Given the description of an element on the screen output the (x, y) to click on. 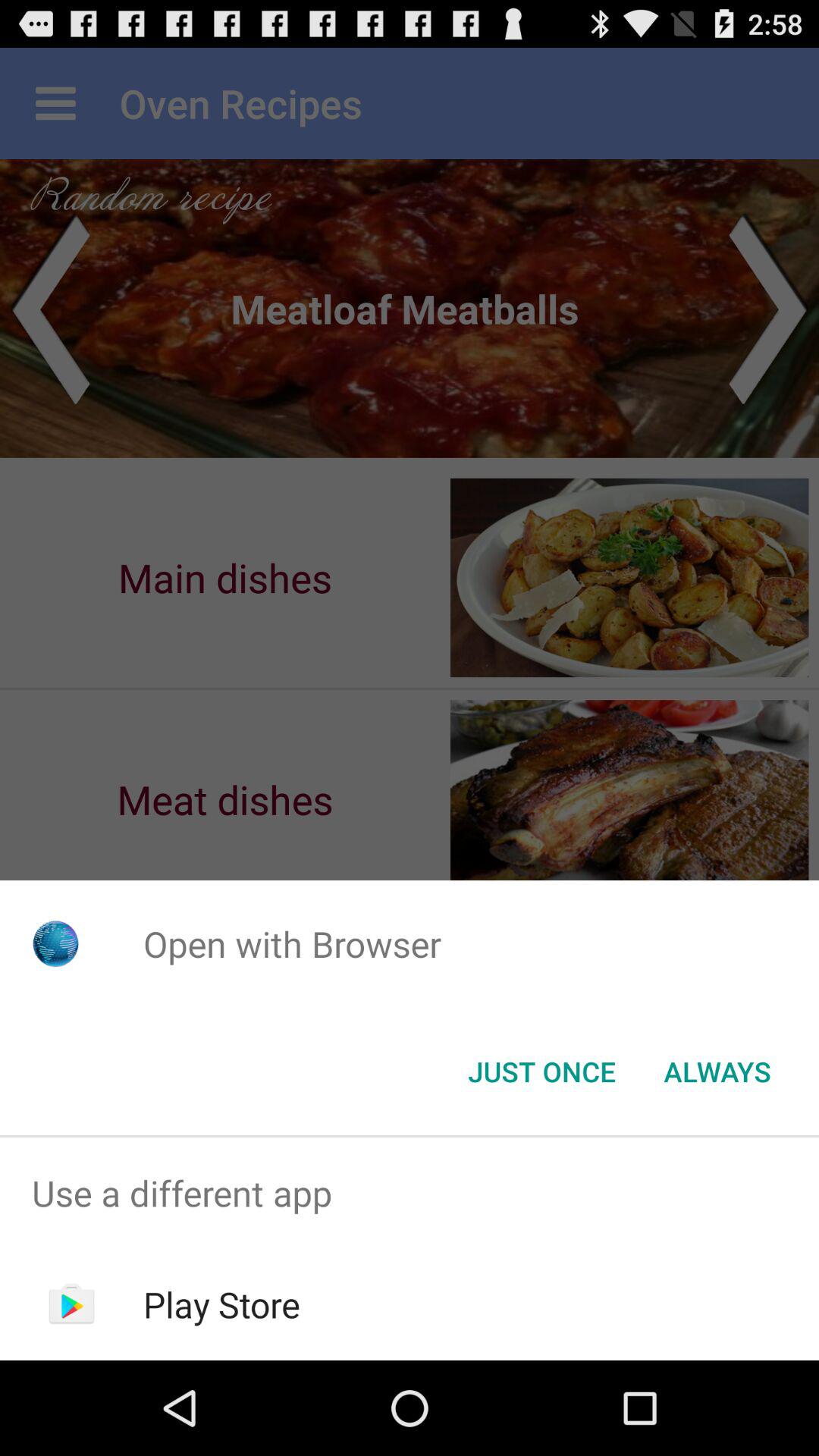
launch always icon (717, 1071)
